Given the description of an element on the screen output the (x, y) to click on. 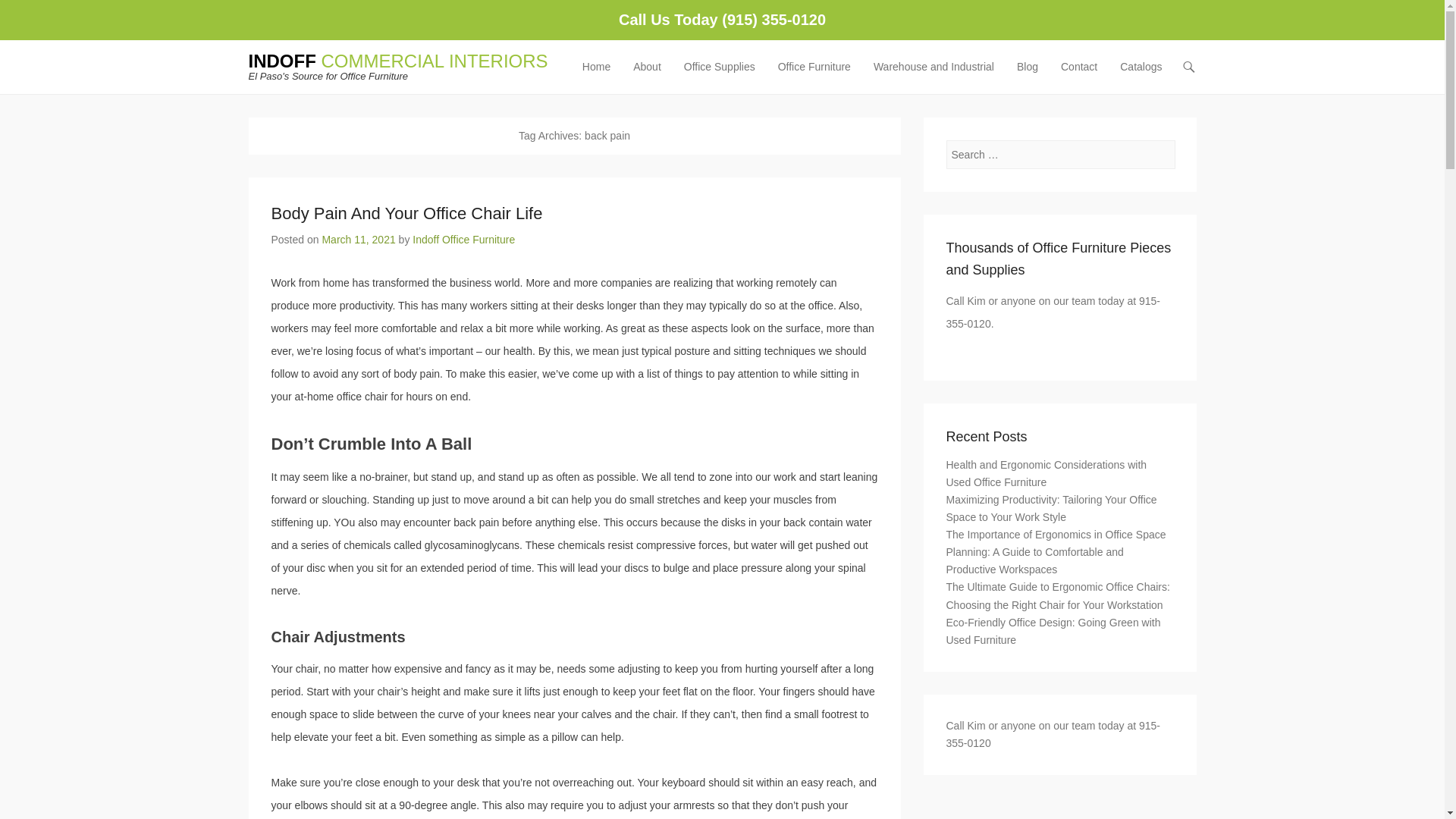
Permalink to Body Pain And Your Office Chair Life (406, 212)
Warehouse and Industrial (933, 75)
INDOFF (398, 60)
Home (596, 75)
Office Supplies (719, 75)
Indoff (398, 60)
Catalogs (1140, 75)
Skip to content (610, 67)
About (647, 75)
Skip to content (610, 67)
Contact (1078, 75)
Office Furniture (814, 75)
4:23 PM (357, 239)
View all posts by Indoff Office Furniture (463, 239)
Blog (1027, 75)
